Given the description of an element on the screen output the (x, y) to click on. 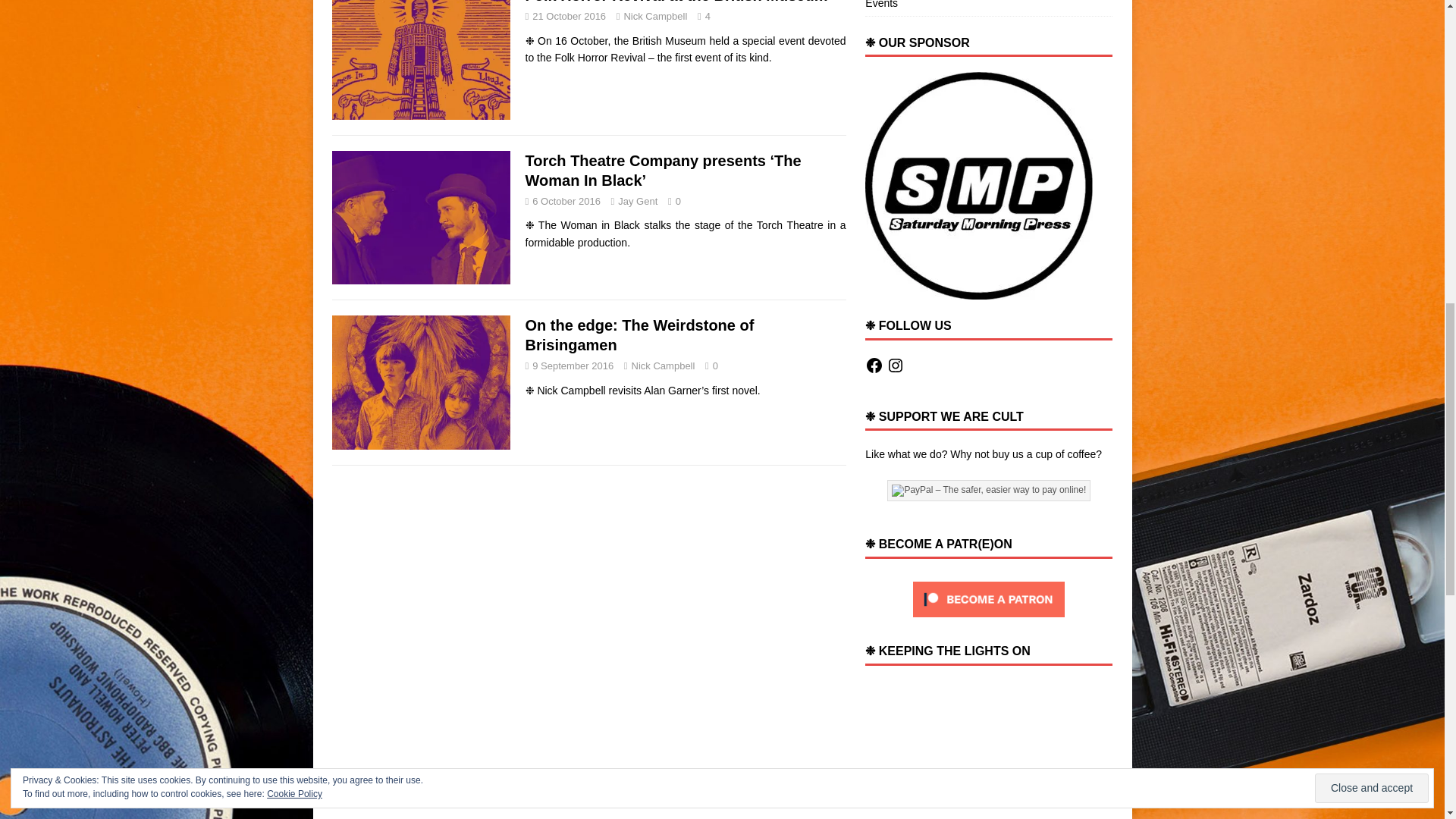
Folk Horror Revival at the British Museum (675, 2)
Nick Campbell (655, 16)
Nick Campbell (663, 365)
On the edge: The Weirdstone of Brisingamen (639, 334)
0 (715, 365)
0 (678, 201)
4 (707, 16)
Jay Gent (637, 201)
